Given the description of an element on the screen output the (x, y) to click on. 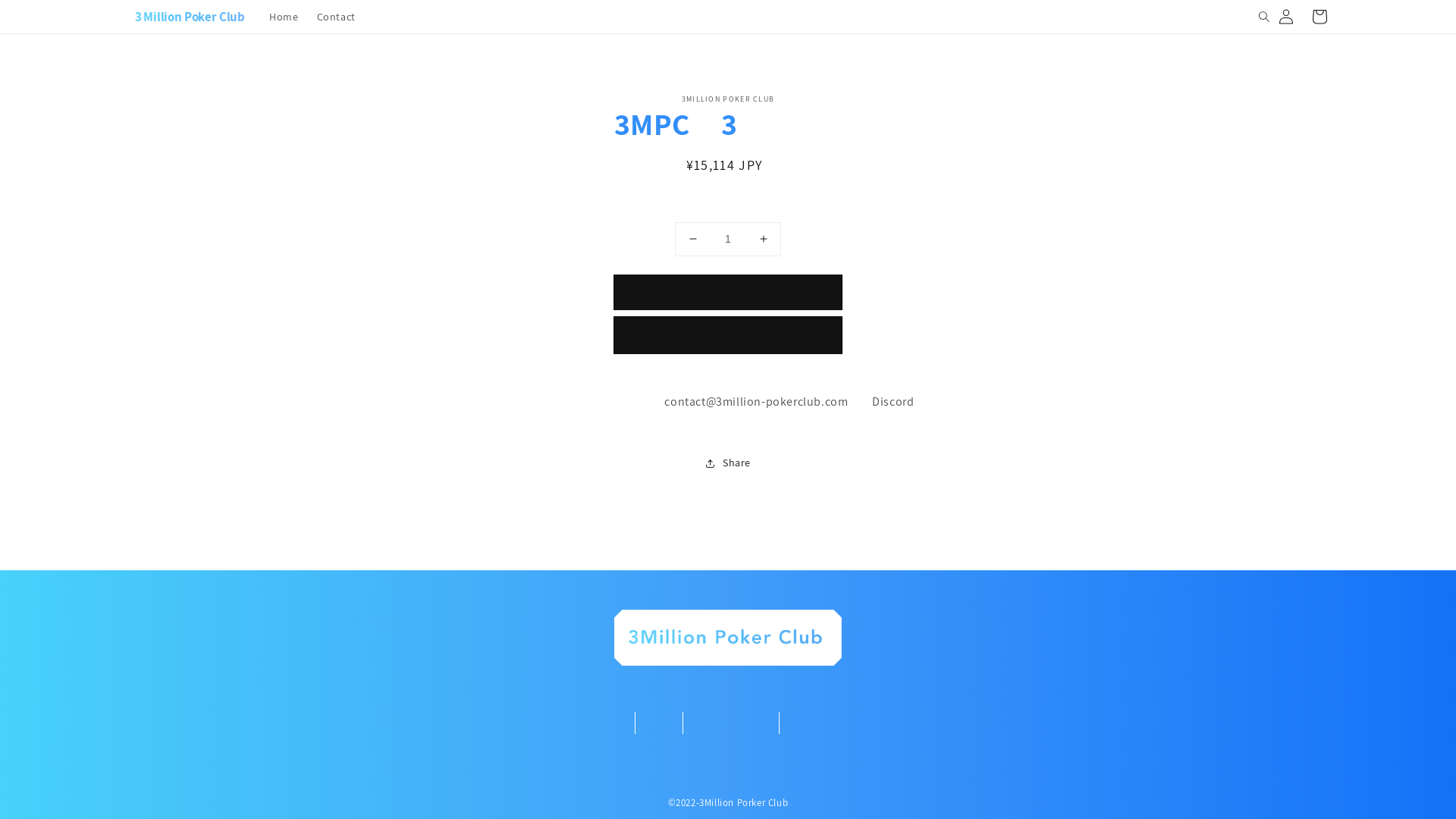
3 Million Poker Club Element type: text (182, 16)
Contact Element type: text (335, 16)
Home Element type: text (283, 16)
